Given the description of an element on the screen output the (x, y) to click on. 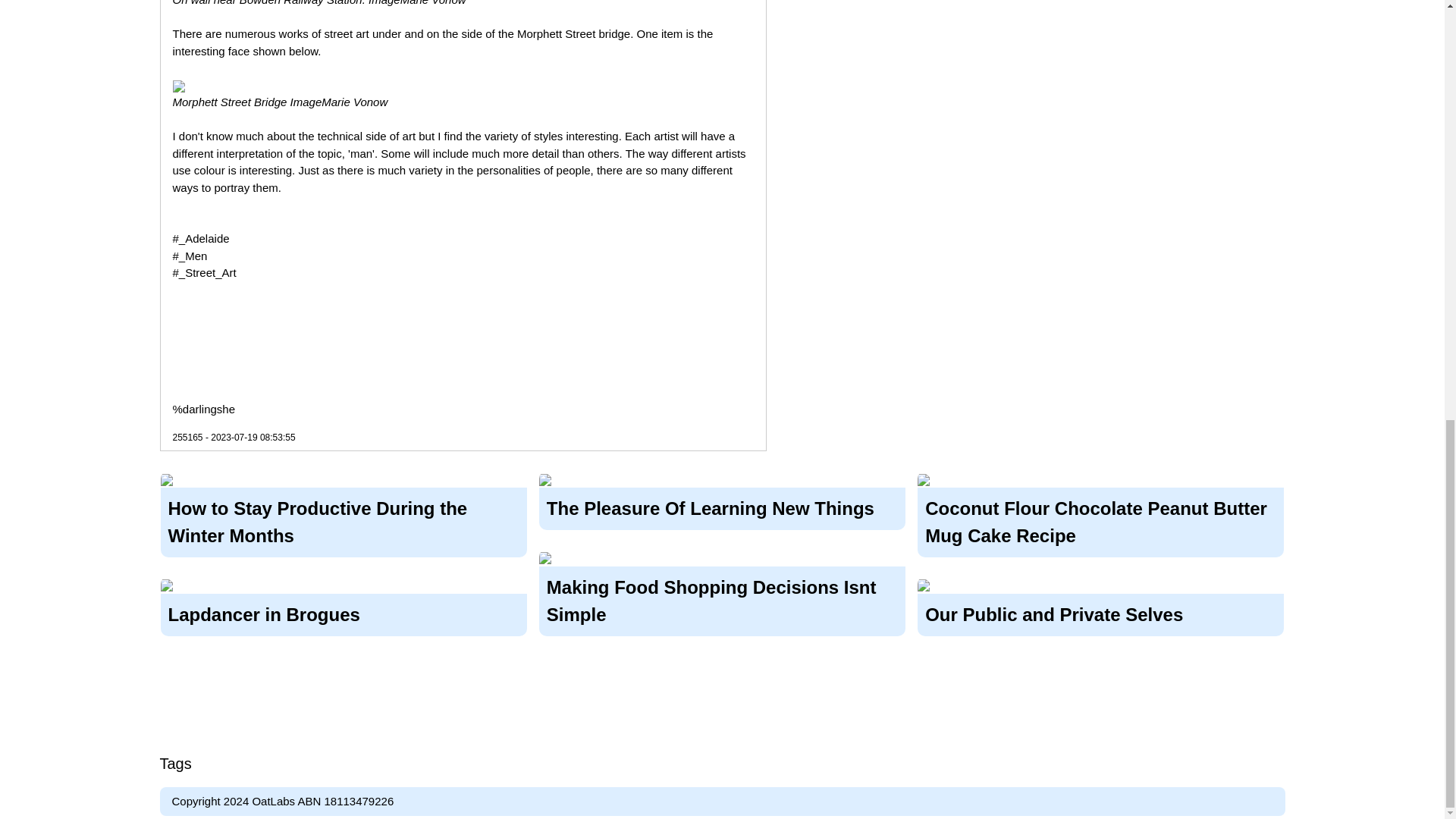
How to Stay Productive During the Winter Months (343, 519)
Making Food Shopping Decisions Isnt Simple (721, 597)
The Pleasure Of Learning New Things (721, 506)
Our Public and Private Selves (1100, 611)
Coconut Flour Chocolate Peanut Butter Mug Cake Recipe (1100, 519)
Lapdancer in Brogues (343, 611)
